Given the description of an element on the screen output the (x, y) to click on. 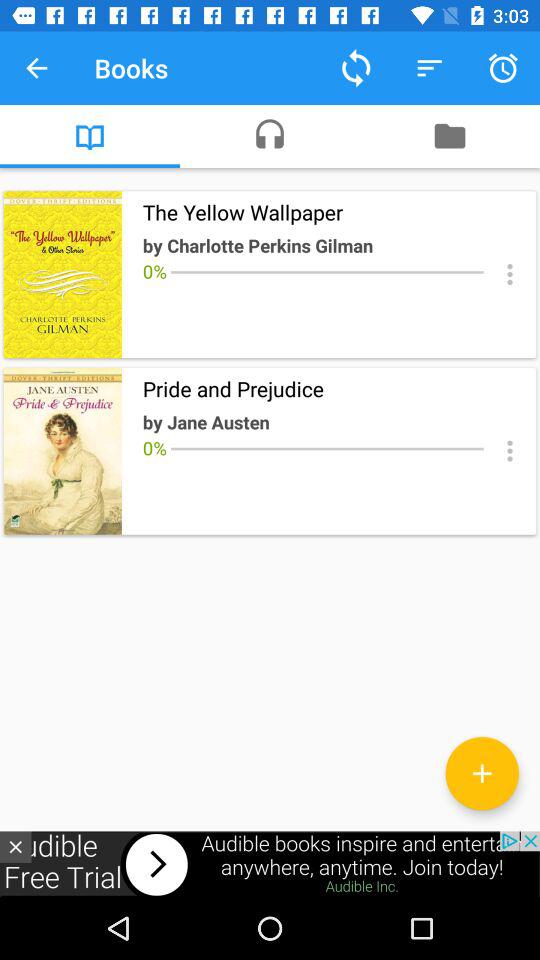
add another book (482, 773)
